Given the description of an element on the screen output the (x, y) to click on. 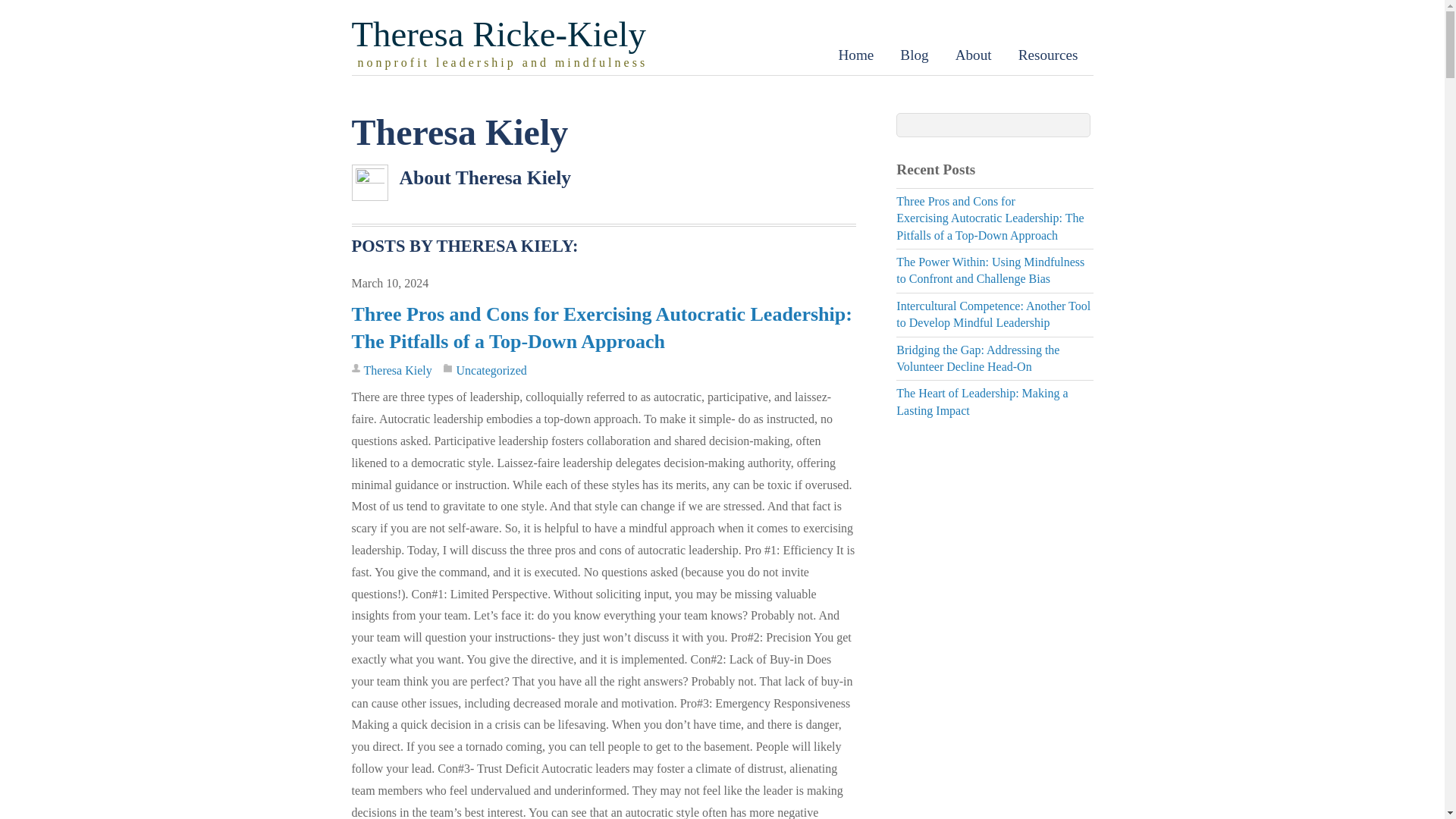
Theresa Ricke-Kiely (499, 34)
Theresa Kiely (398, 369)
Theresa Ricke-Kiely (499, 34)
Uncategorized (490, 369)
Resources (1048, 55)
Home (856, 55)
About (973, 55)
Blog (913, 55)
Search (992, 125)
